Given the description of an element on the screen output the (x, y) to click on. 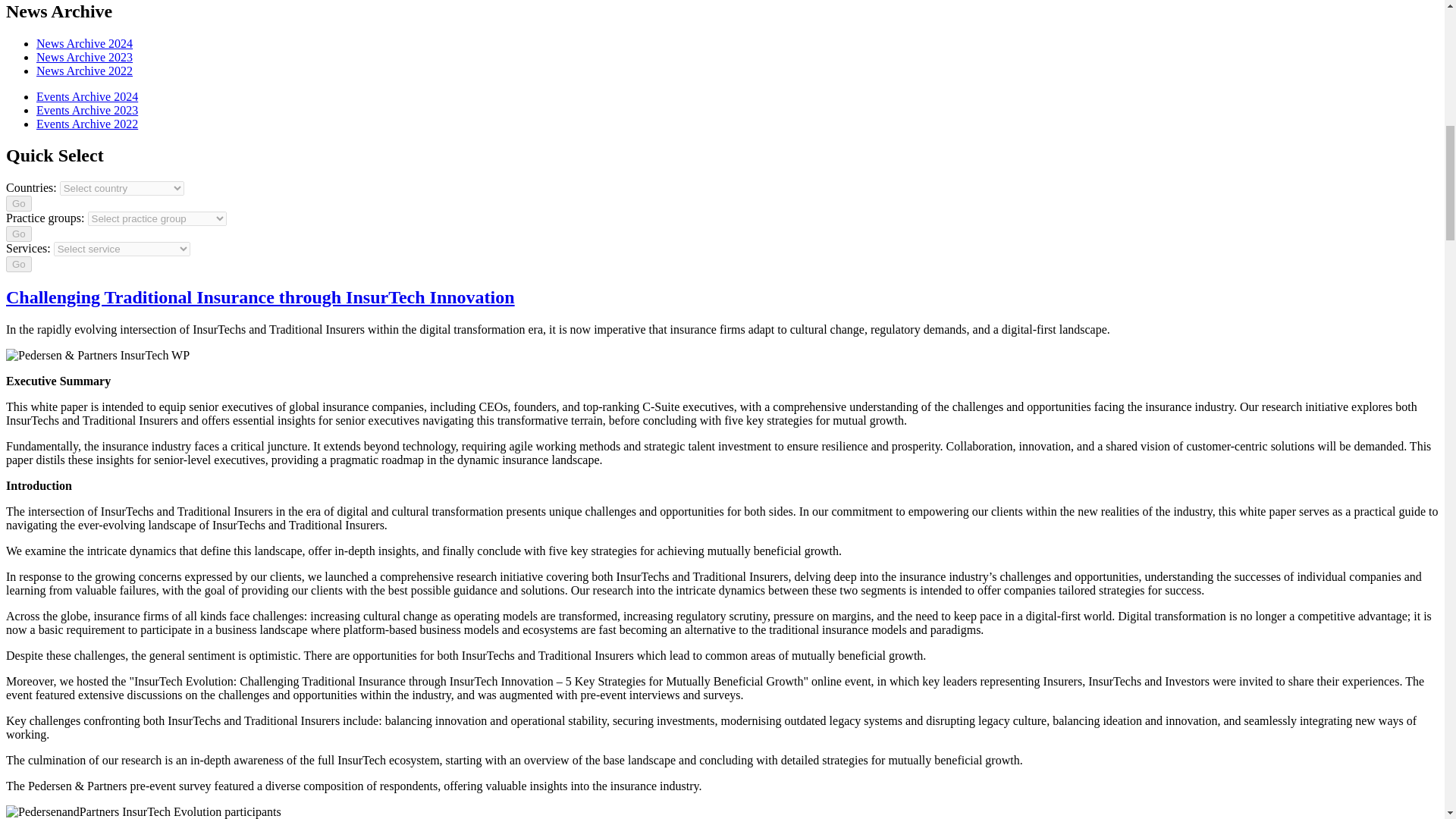
News Archive 2022 (84, 69)
Events Archive 2024 (87, 95)
News Archive 2023 (84, 56)
PedersenandPartners InsurTech Evolution participants (143, 812)
Go (18, 203)
Go (18, 263)
News Archive 2024 (84, 42)
Go (18, 233)
